Given the description of an element on the screen output the (x, y) to click on. 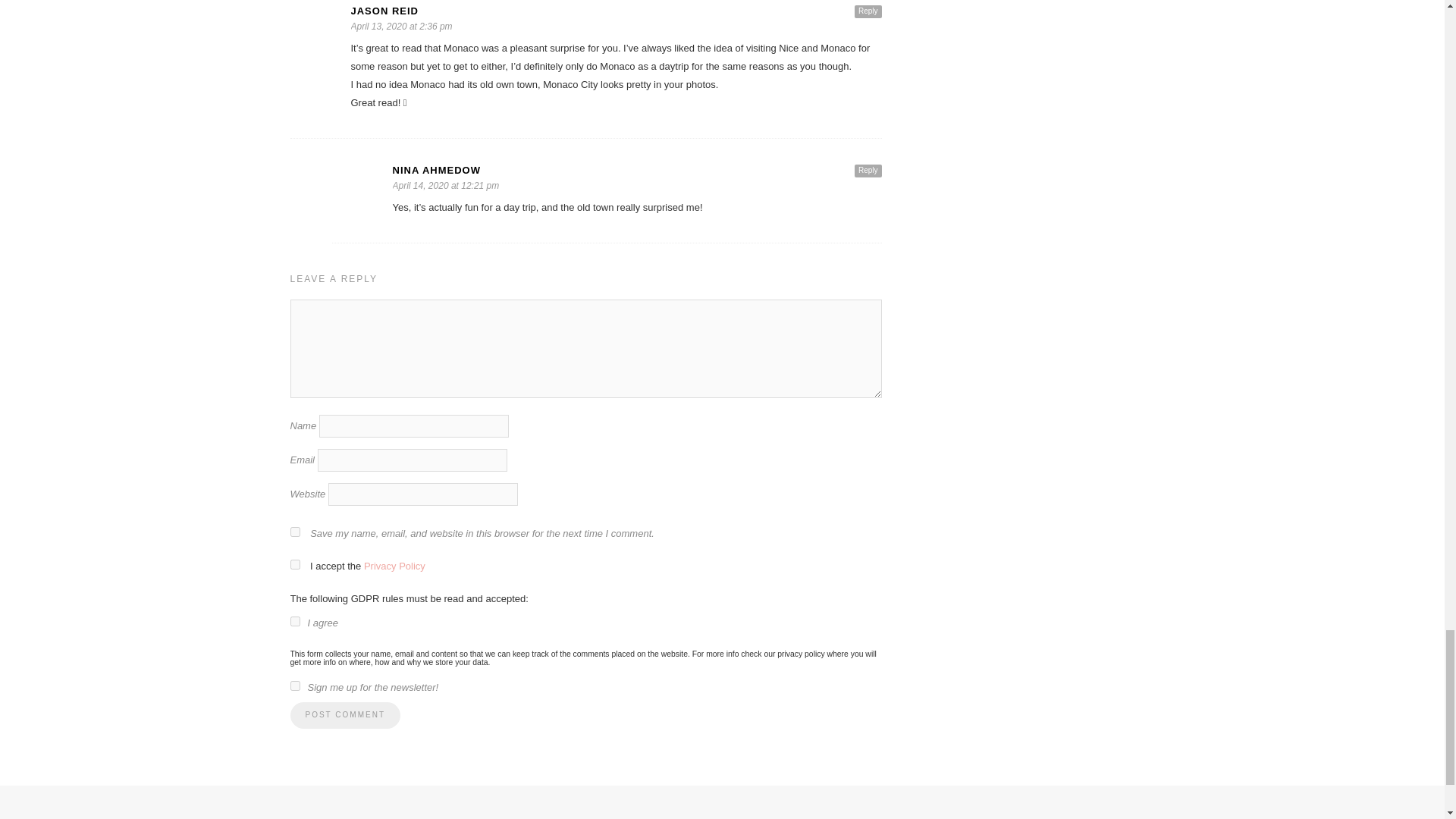
1 (294, 621)
Reply (868, 11)
1 (294, 685)
Post Comment (343, 714)
JASON REID (615, 10)
Reply (868, 170)
1 (294, 564)
yes (294, 532)
